Given the description of an element on the screen output the (x, y) to click on. 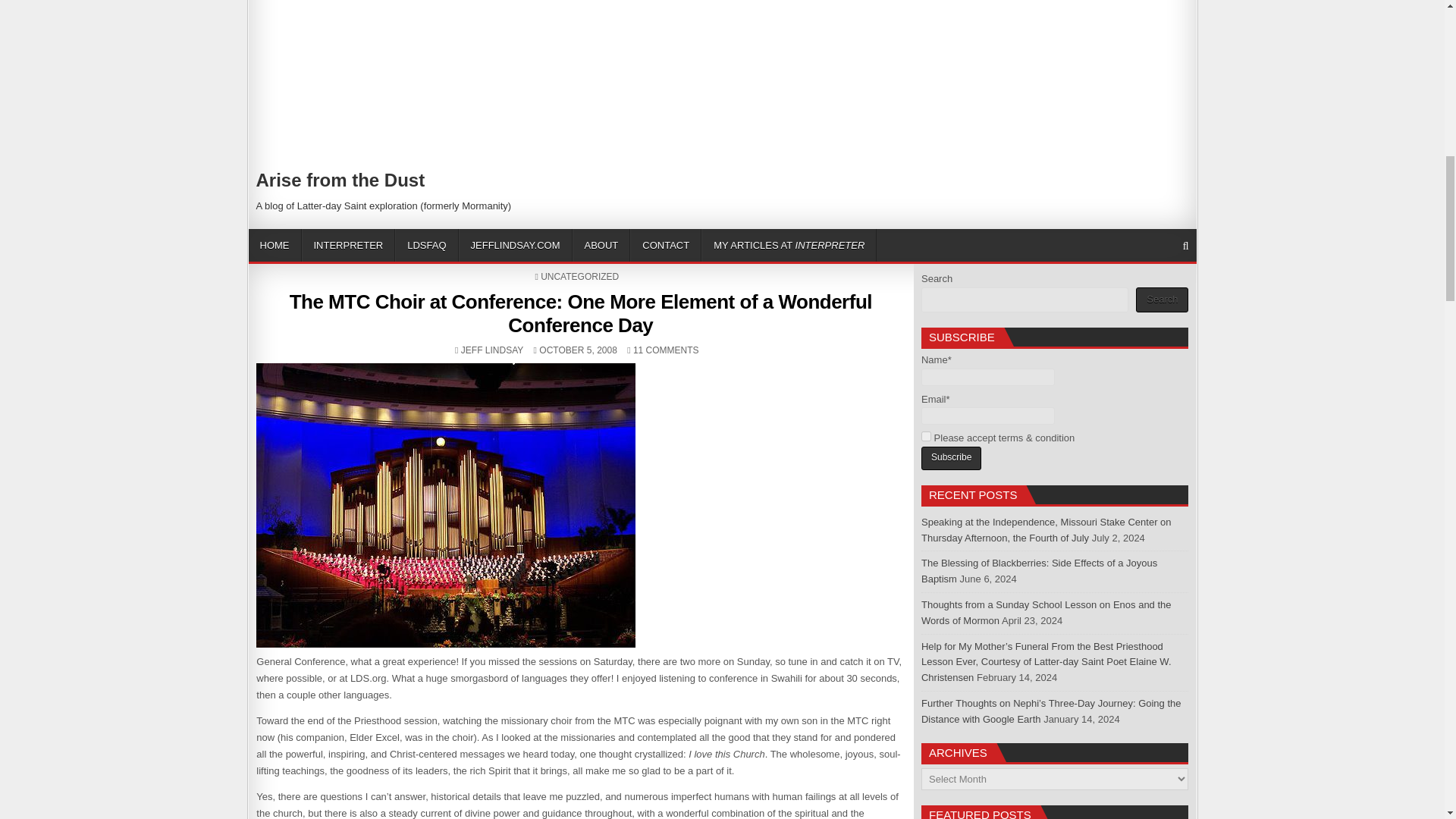
CONTACT (665, 245)
ABOUT (601, 245)
UNCATEGORIZED (579, 276)
11 COMMENTS (665, 349)
LDSFAQ (426, 245)
MY ARTICLES AT INTERPRETER (788, 245)
HOME (274, 245)
Arise from the Dust (340, 179)
JEFFLINDSAY.COM (515, 245)
